Given the description of an element on the screen output the (x, y) to click on. 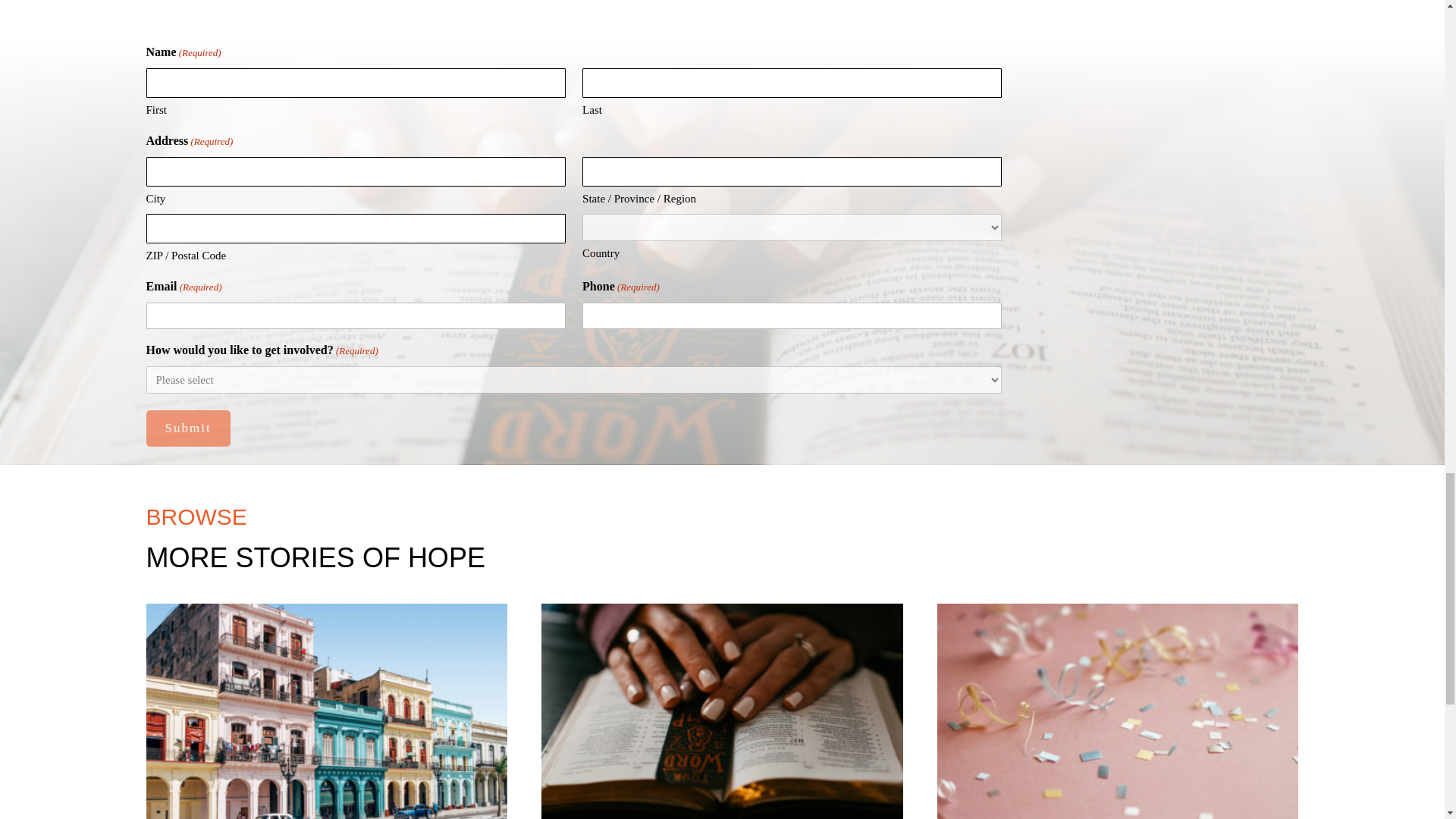
Submit (187, 428)
Submit (187, 428)
